Given the description of an element on the screen output the (x, y) to click on. 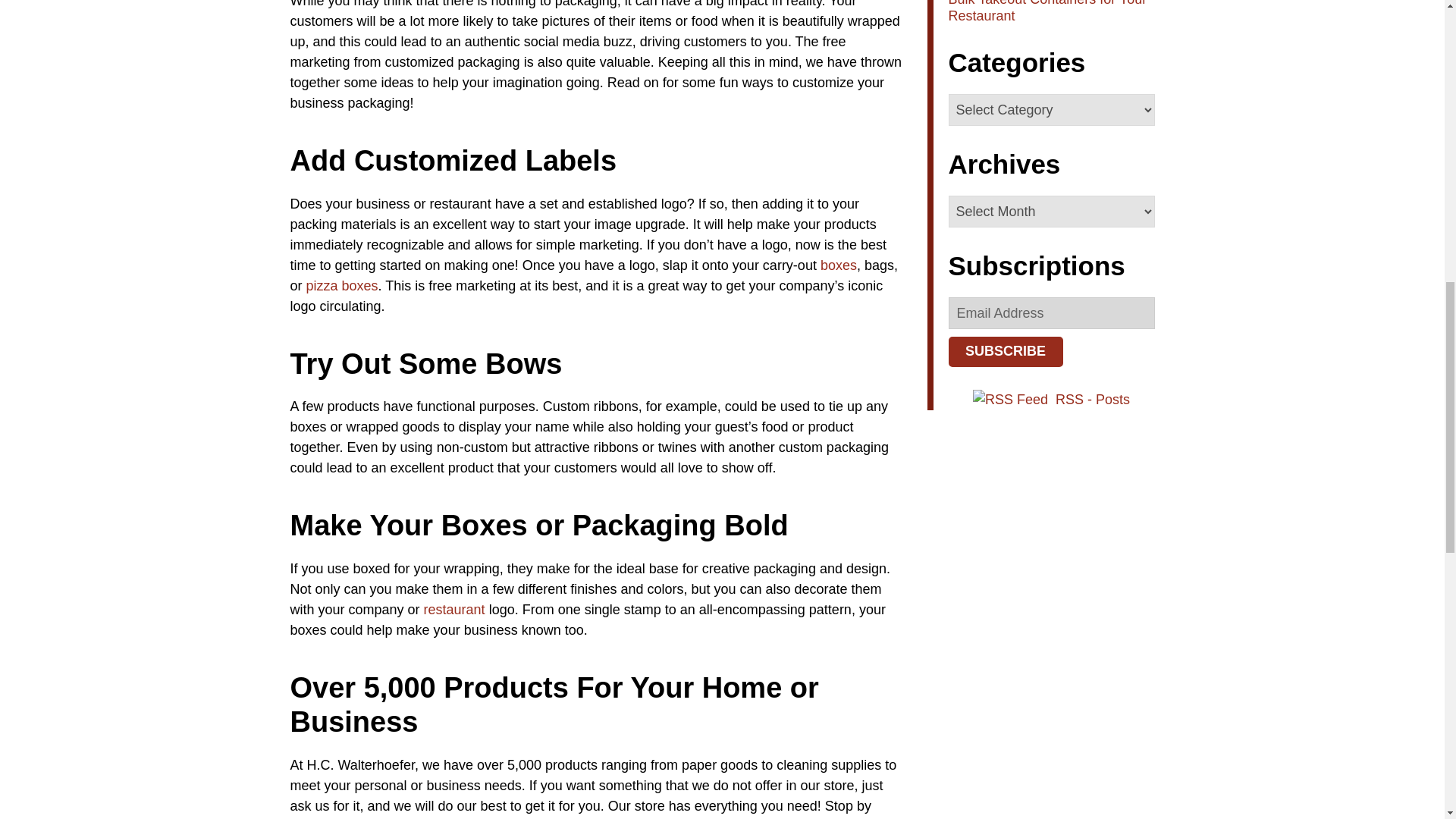
boxes (839, 264)
Subscribe to Posts (1092, 399)
pizza boxes (341, 285)
RSS - Posts (1092, 399)
Subscribe (1004, 351)
Subscribe to Posts (1011, 399)
Subscribe (1004, 351)
restaurant (453, 609)
